Given the description of an element on the screen output the (x, y) to click on. 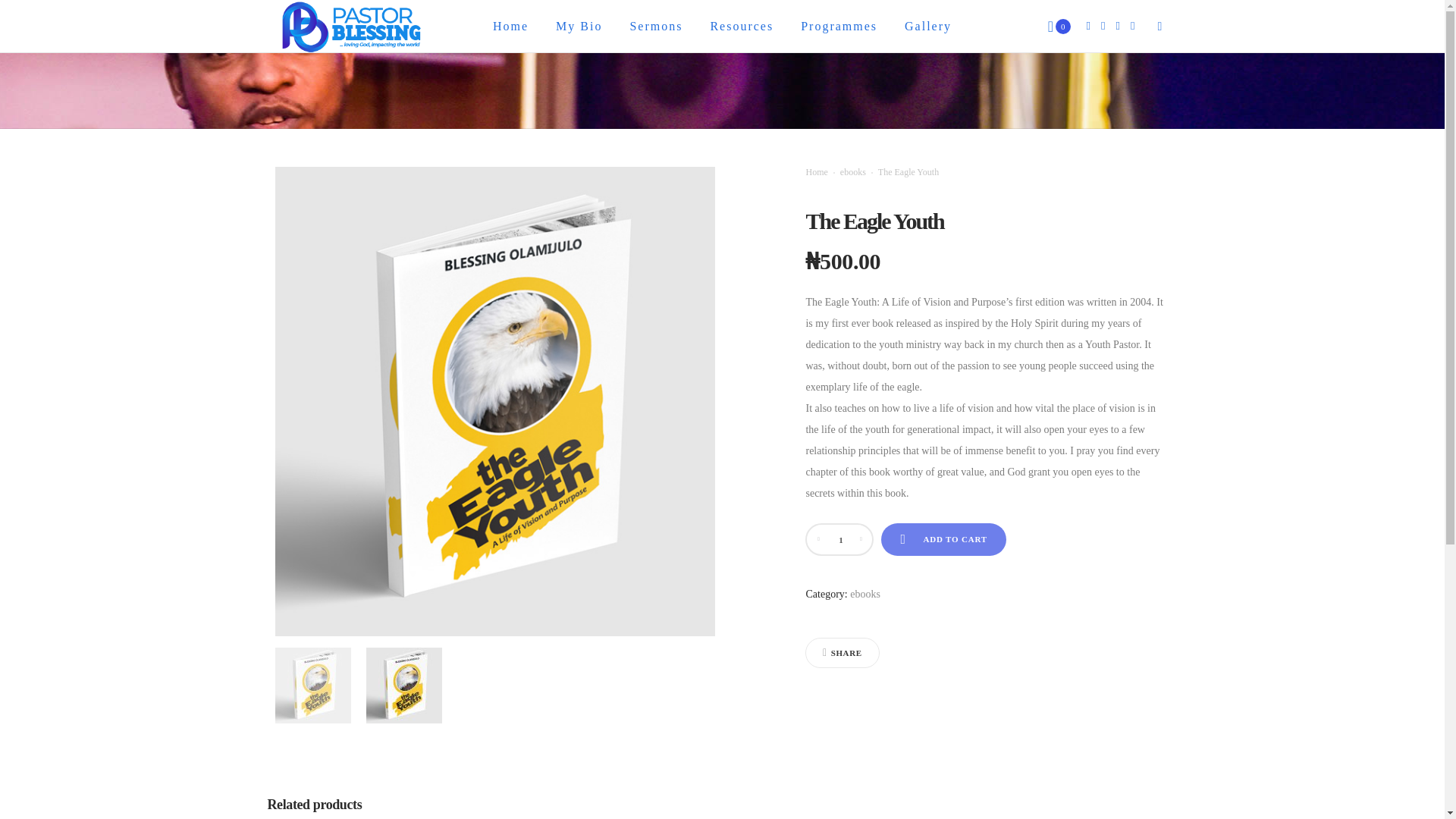
YouTube (1132, 25)
Gallery (928, 25)
Home (510, 25)
Programmes (838, 25)
Site logo (350, 26)
My Bio (579, 25)
Sermons (655, 25)
Twitter (1117, 25)
Resources (741, 25)
Facebook (1088, 25)
Instagram (1102, 25)
